Given the description of an element on the screen output the (x, y) to click on. 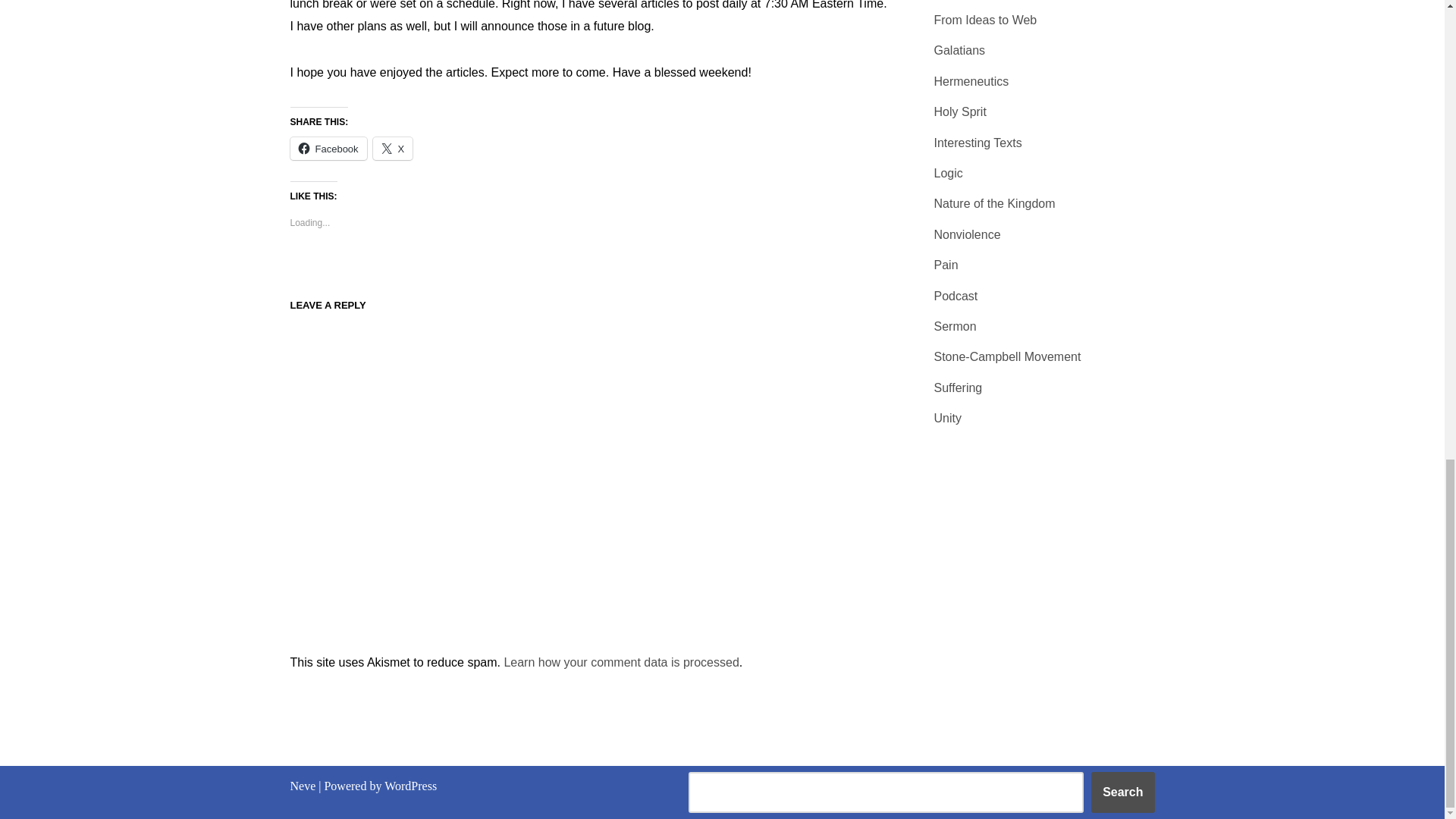
Facebook (327, 148)
X (392, 148)
Learn how your comment data is processed (620, 662)
Click to share on X (392, 148)
Click to share on Facebook (327, 148)
